Given the description of an element on the screen output the (x, y) to click on. 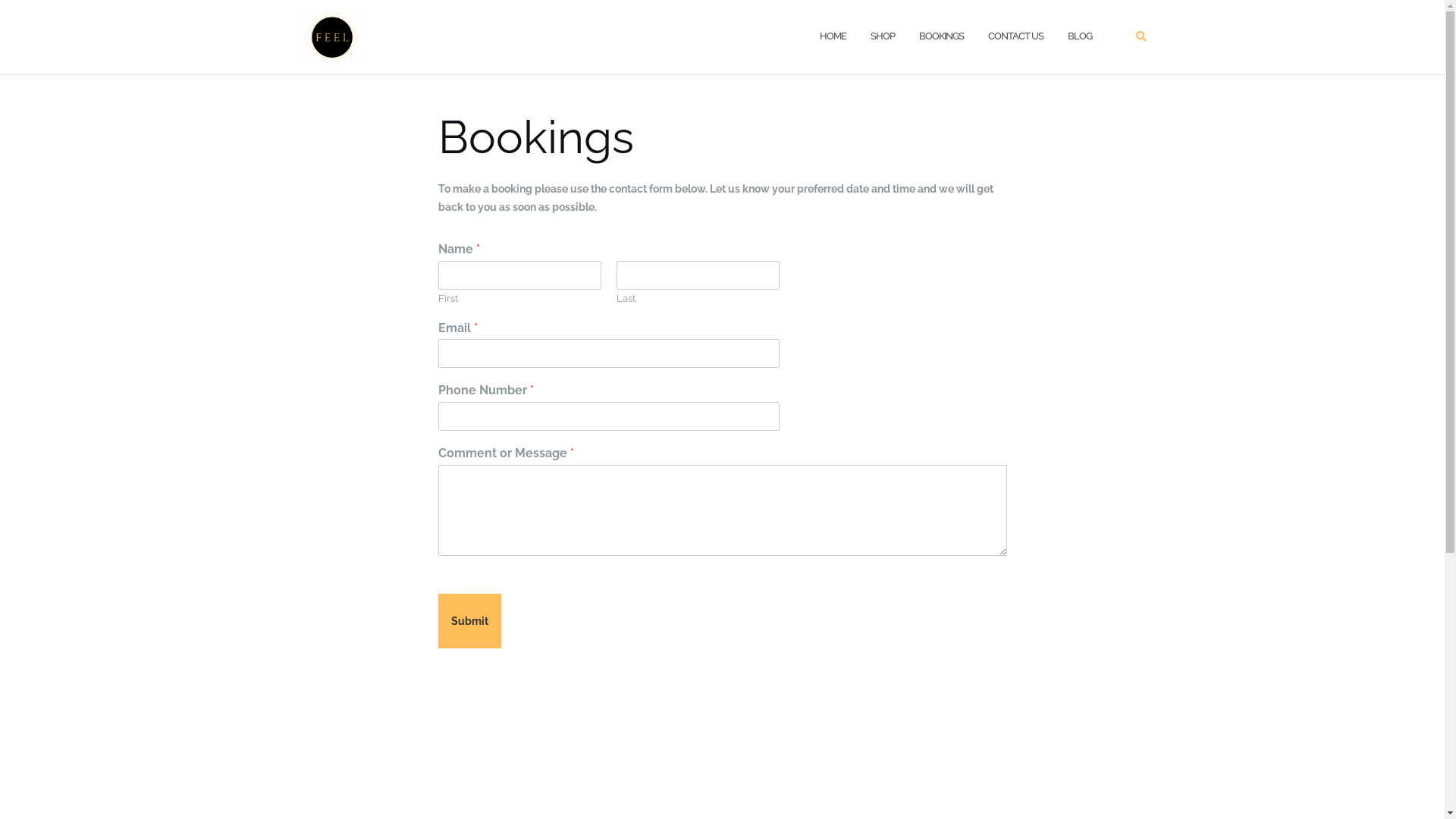
BOOKINGS Element type: text (941, 36)
CONTACT US Element type: text (1014, 36)
HOME Element type: text (832, 36)
SHOP Element type: text (882, 36)
Submit Element type: text (469, 620)
BLOG Element type: text (1079, 36)
